Given the description of an element on the screen output the (x, y) to click on. 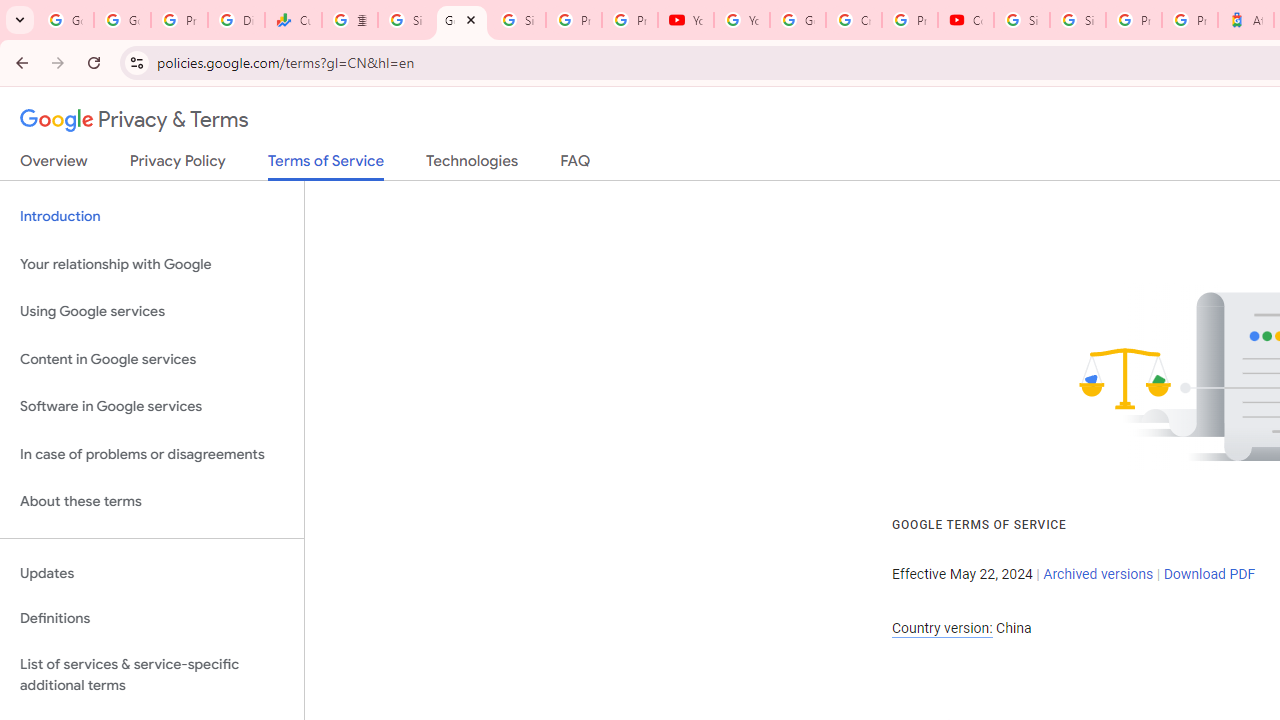
Sign in - Google Accounts (1077, 20)
Using Google services (152, 312)
Download PDF (1209, 574)
Definitions (152, 619)
Your relationship with Google (152, 263)
Sign in - Google Accounts (518, 20)
Software in Google services (152, 407)
Google Workspace Admin Community (65, 20)
List of services & service-specific additional terms (152, 674)
Sign in - Google Accounts (405, 20)
Updates (152, 573)
